Given the description of an element on the screen output the (x, y) to click on. 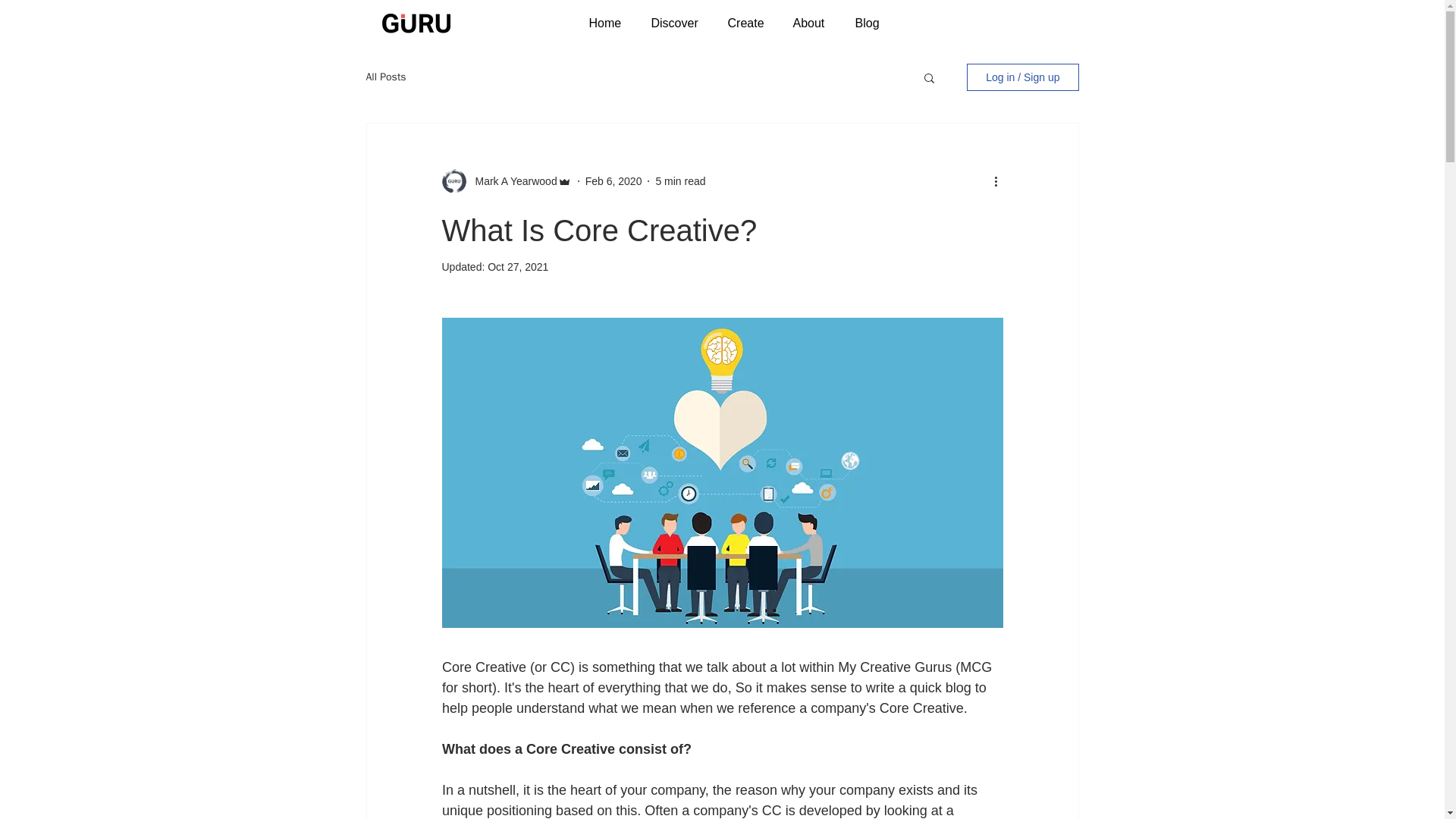
Home (609, 22)
Oct 27, 2021 (517, 266)
Discover (678, 22)
All Posts (385, 77)
About (811, 22)
Blog (869, 22)
Create (748, 22)
Mark A Yearwood (510, 180)
Feb 6, 2020 (613, 180)
5 min read (679, 180)
